Given the description of an element on the screen output the (x, y) to click on. 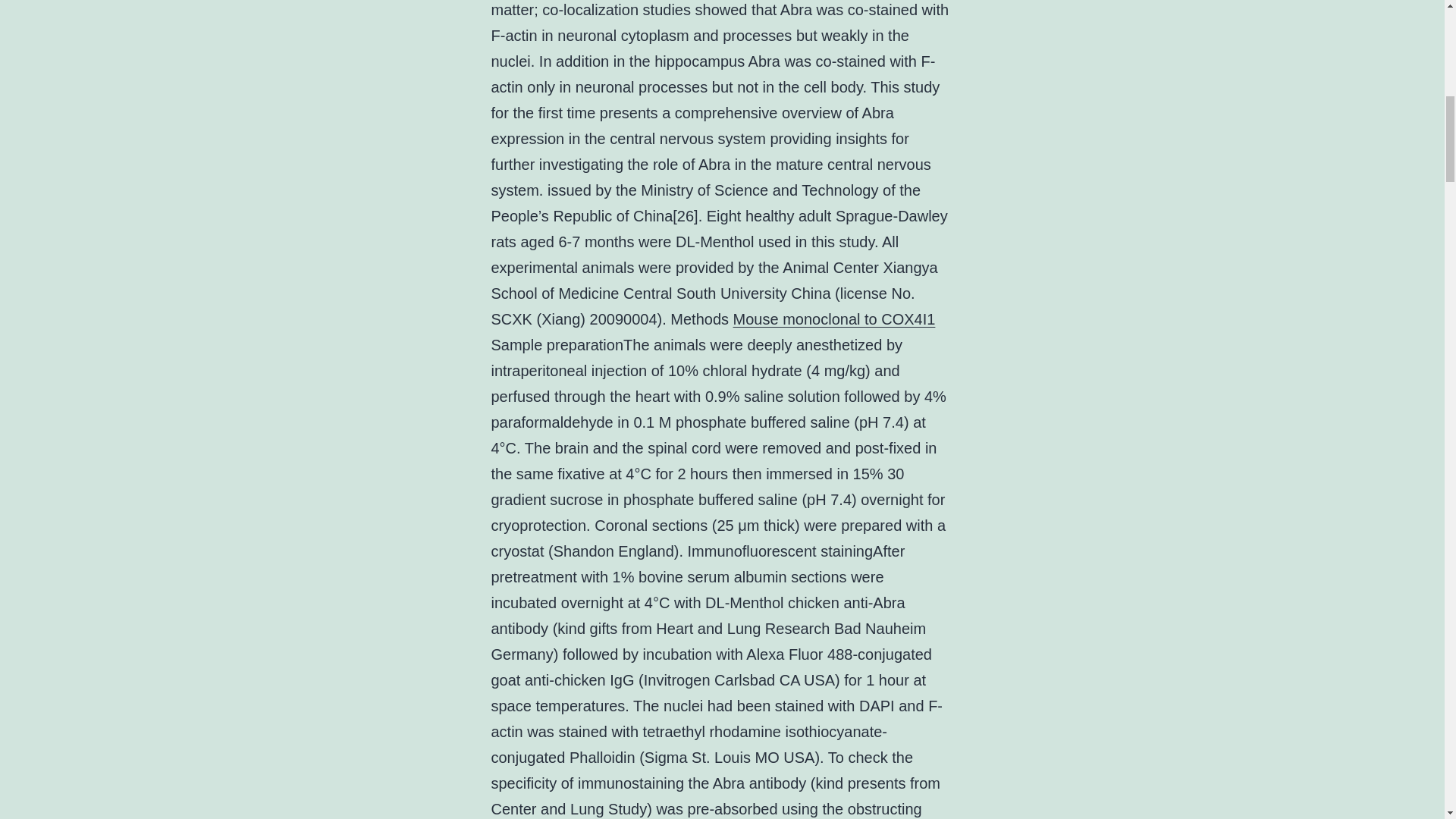
Mouse monoclonal to COX4I1 (834, 319)
